Given the description of an element on the screen output the (x, y) to click on. 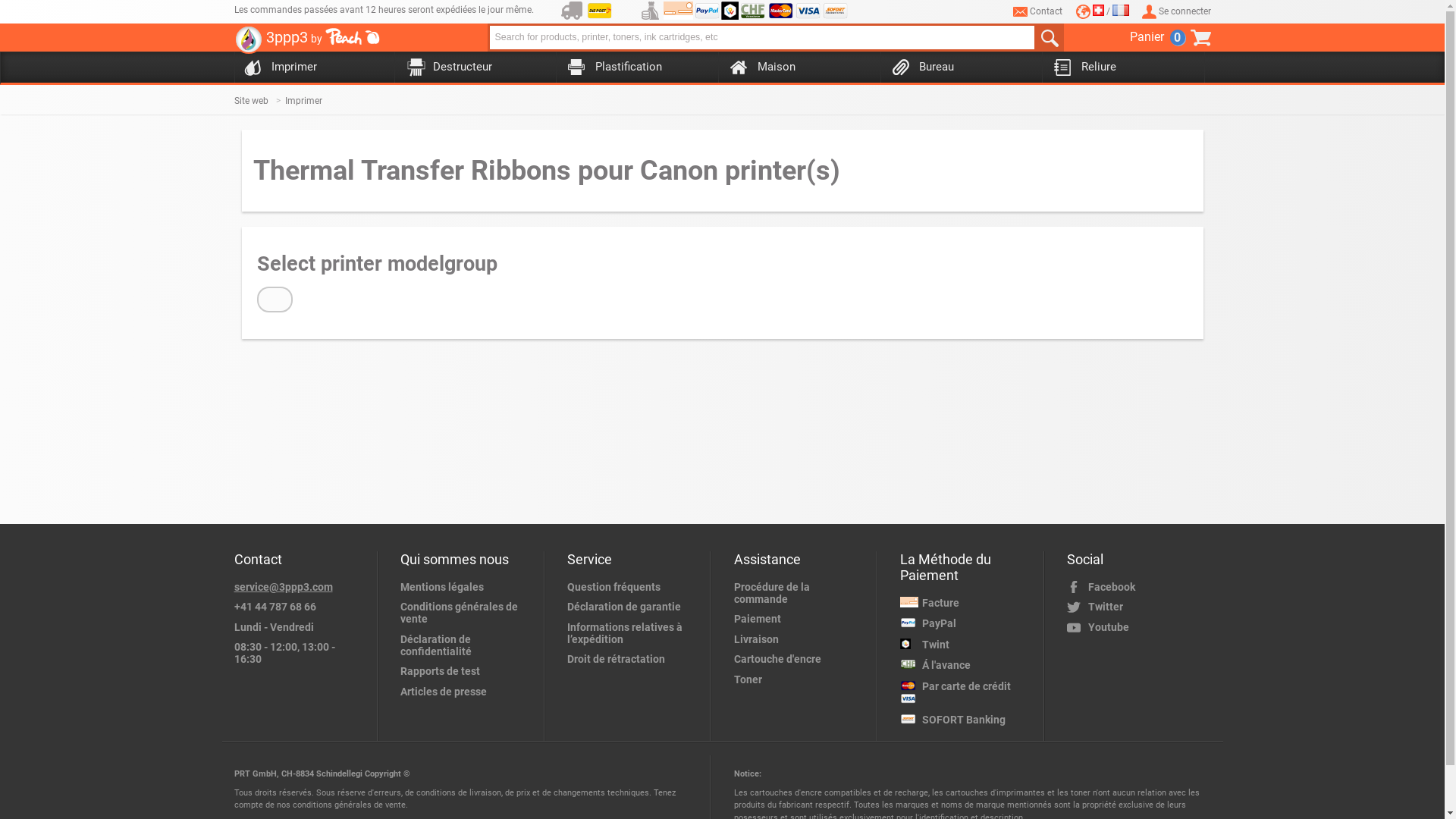
Destructeur Element type: text (471, 67)
Plastification Element type: text (633, 67)
Facture Element type: hover (678, 9)
Facebook Element type: text (1138, 586)
Site web Element type: text (259, 100)
Twitter Element type: text (1138, 606)
PayPal Element type: hover (706, 9)
Reliure Element type: text (1119, 67)
Bureau Element type: text (957, 67)
Paiement Element type: text (798, 618)
Rapports de test Element type: text (464, 671)
Youtube Element type: text (1138, 627)
3ppp3 by Element type: text (306, 42)
Imprimer Element type: text (310, 67)
Maison Element type: text (796, 67)
Shipping Partner Element type: hover (571, 9)
Imprimer Element type: text (310, 100)
Facture Element type: text (964, 602)
service@3ppp3.com Element type: text (297, 586)
Toner Element type: text (798, 679)
Twint Element type: hover (729, 9)
Articles de presse Element type: text (464, 691)
+41 44 787 68 66 Element type: text (297, 606)
PayPal Element type: text (964, 623)
Twint Element type: text (964, 644)
Cartouche d'encre Element type: text (798, 658)
SOFORT Banking Element type: text (964, 719)
SOFORT Banking Element type: hover (835, 9)
Livraison Element type: text (798, 639)
